Given the description of an element on the screen output the (x, y) to click on. 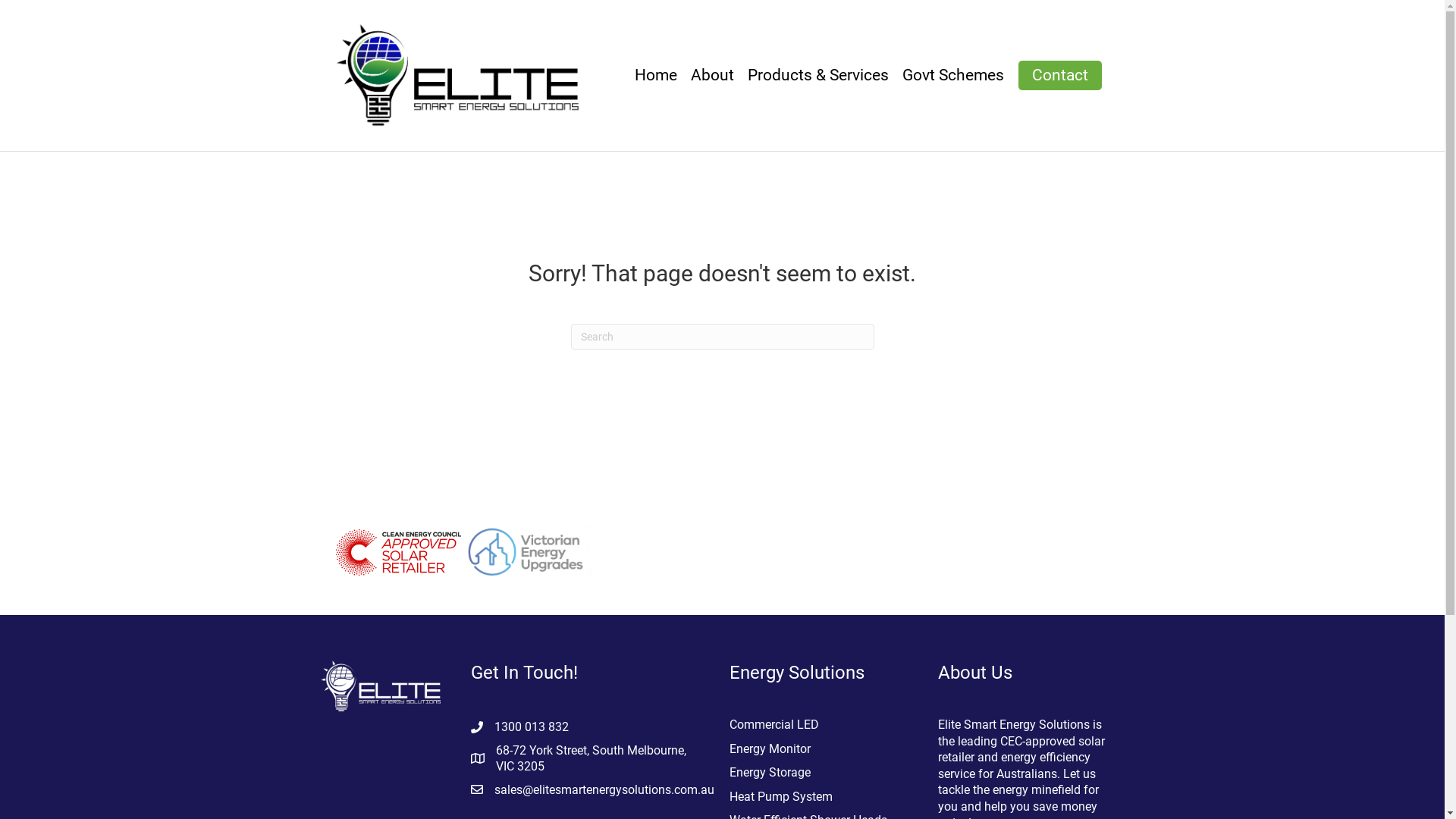
Govt Schemes Element type: text (952, 75)
Home Element type: text (655, 75)
68-72 York Street, South Melbourne, VIC 3205 Element type: text (597, 758)
Contact Element type: text (1059, 75)
sales@elitesmartenergysolutions.com.au Element type: text (604, 789)
1300 013 832 Element type: text (531, 726)
Energy Storage Element type: text (769, 772)
Energy Monitor Element type: text (769, 748)
About Element type: text (712, 75)
Products & Services Element type: text (817, 75)
Type and press Enter to search. Element type: hover (721, 336)
Heat Pump System Element type: text (780, 796)
Commercial LED Element type: text (774, 724)
Elite Smart_Logo_White Element type: hover (379, 685)
